Given the description of an element on the screen output the (x, y) to click on. 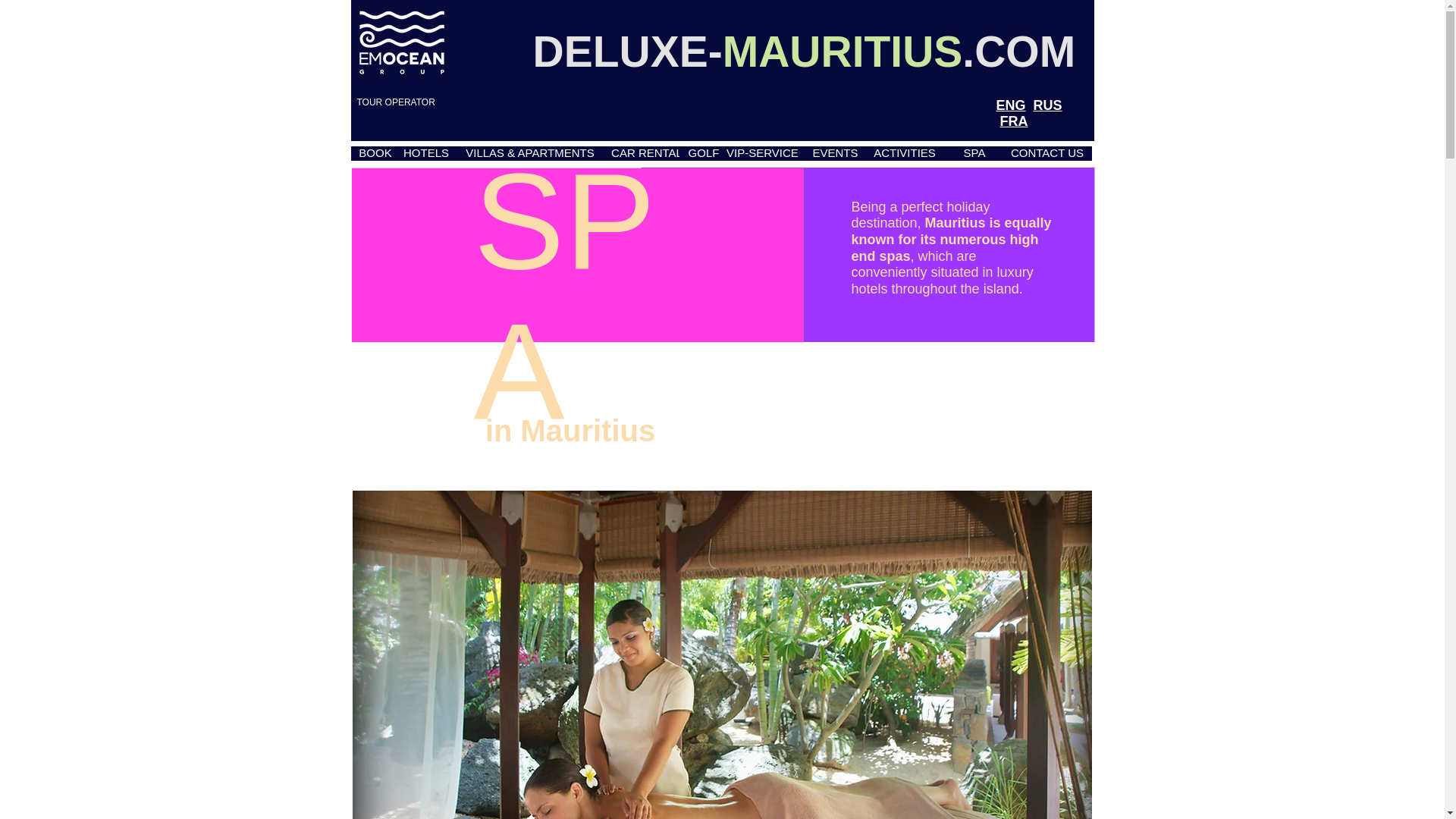
CONTACT US (1046, 153)
VIP-SERVICE (762, 153)
GOLF (704, 153)
FRA (1013, 120)
ACTIVITIES (904, 153)
CAR RENTAL (646, 153)
RUS (1047, 105)
SPA (974, 153)
ENG (1010, 105)
EVENTS (835, 153)
BOOK (374, 153)
HOTELS (425, 153)
